Given the description of an element on the screen output the (x, y) to click on. 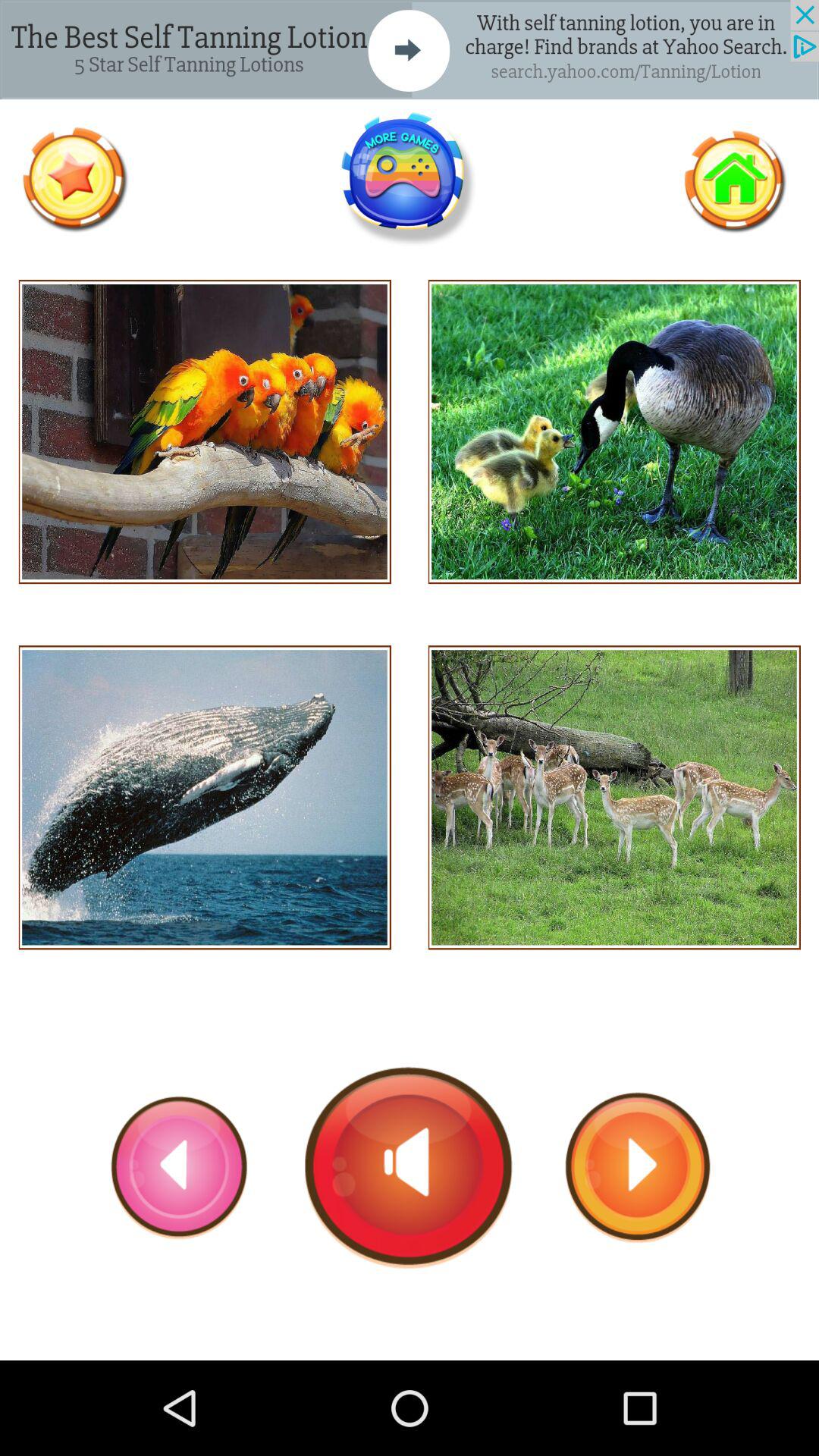
next (637, 1166)
